Given the description of an element on the screen output the (x, y) to click on. 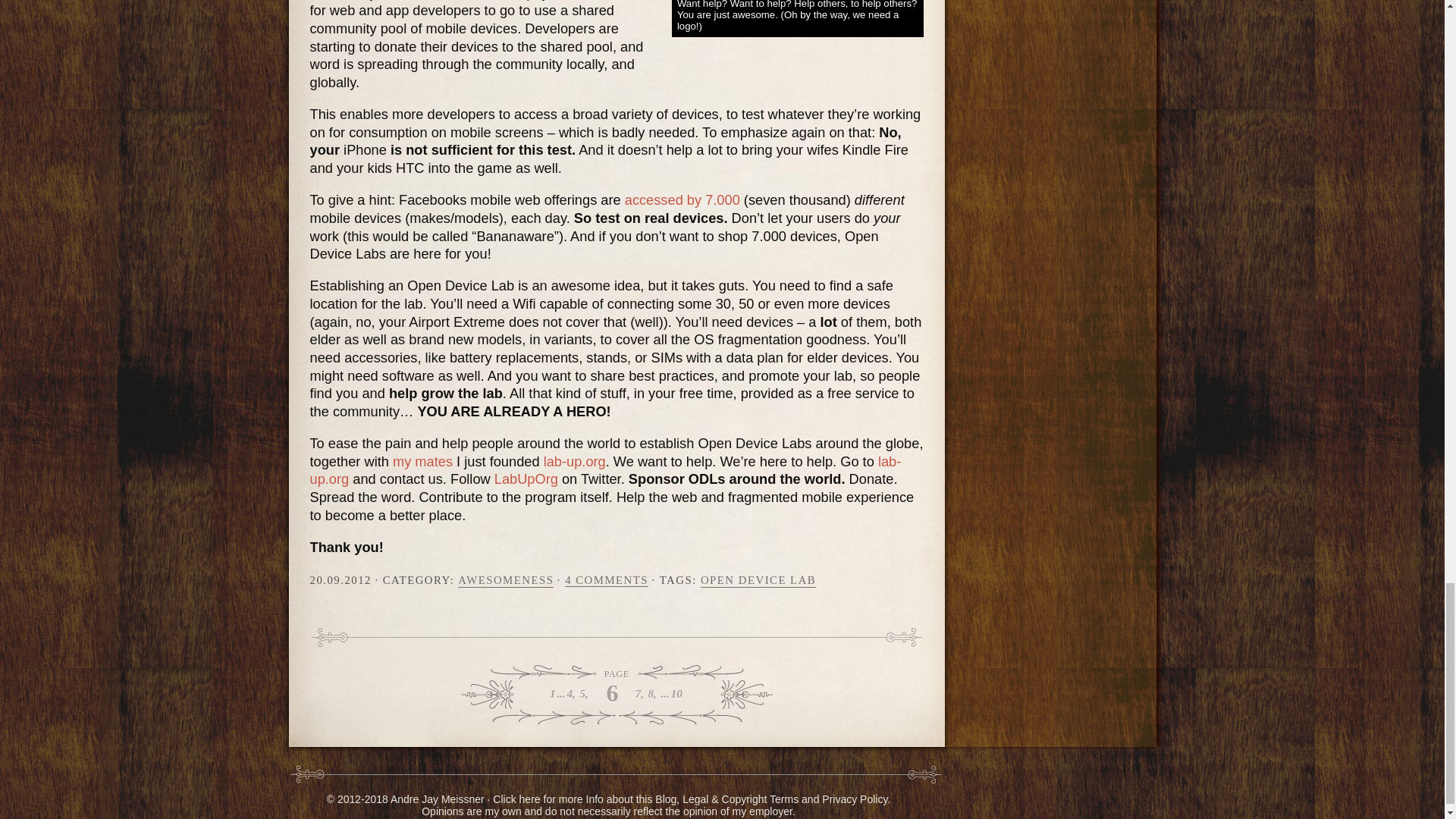
lab-up.org (574, 461)
lab-up.org (604, 470)
accessed by 7.000 (681, 199)
my mates (422, 461)
